Given the description of an element on the screen output the (x, y) to click on. 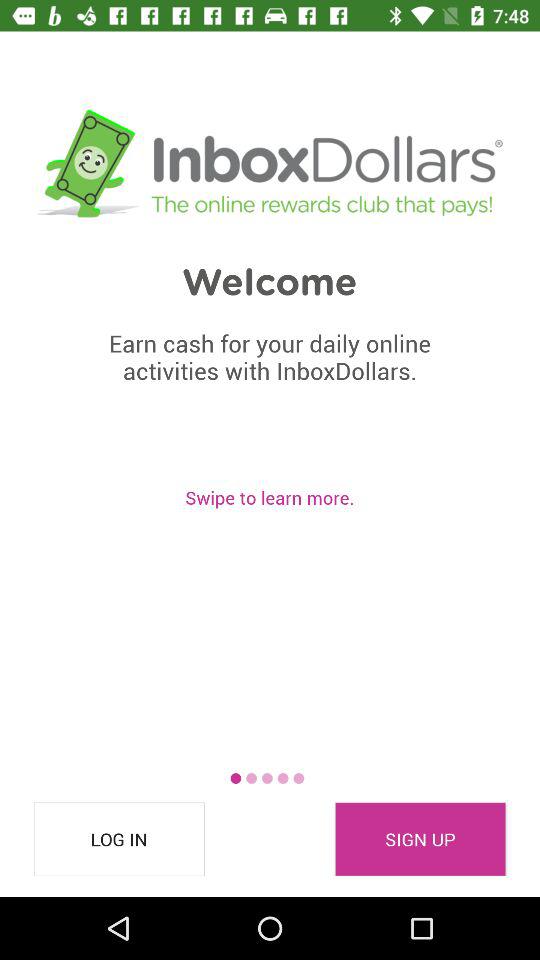
turn on the item next to sign up icon (119, 839)
